Given the description of an element on the screen output the (x, y) to click on. 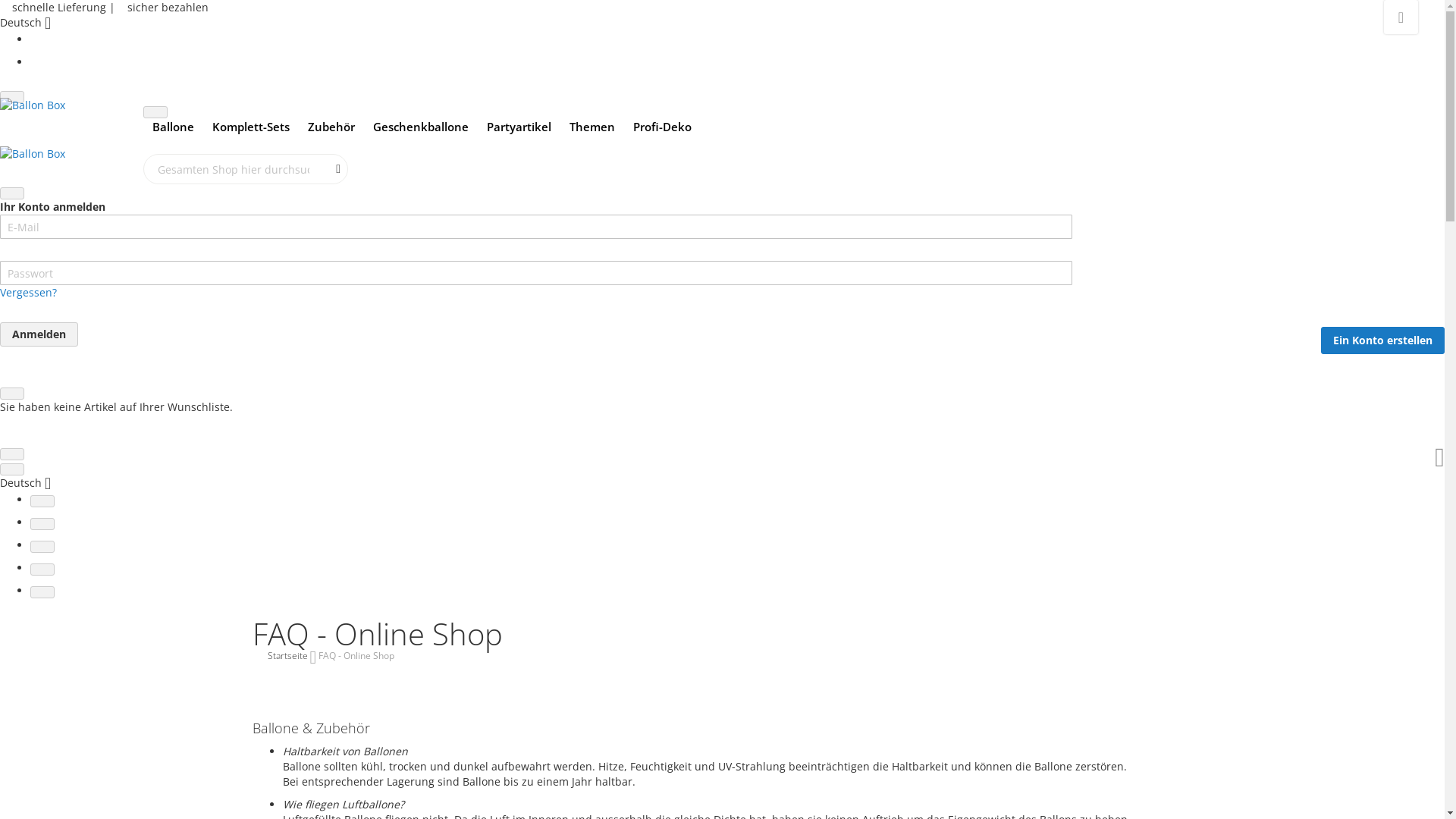
Passwort Element type: hover (536, 272)
Suche Element type: text (337, 168)
Komplett-Sets Element type: text (250, 126)
Ein Konto erstellen Element type: text (1382, 340)
Ballon Box Element type: hover (71, 129)
Vergessen? Element type: text (536, 292)
Mein Warenkorb Element type: text (1439, 457)
Ballone Element type: text (173, 126)
Themen Element type: text (592, 126)
Partyartikel Element type: text (518, 126)
Anmelden Element type: text (39, 334)
Startseite Element type: text (287, 655)
E-Mail Element type: hover (536, 226)
Geschenkballone Element type: text (420, 126)
Profi-Deko Element type: text (662, 126)
